Given the description of an element on the screen output the (x, y) to click on. 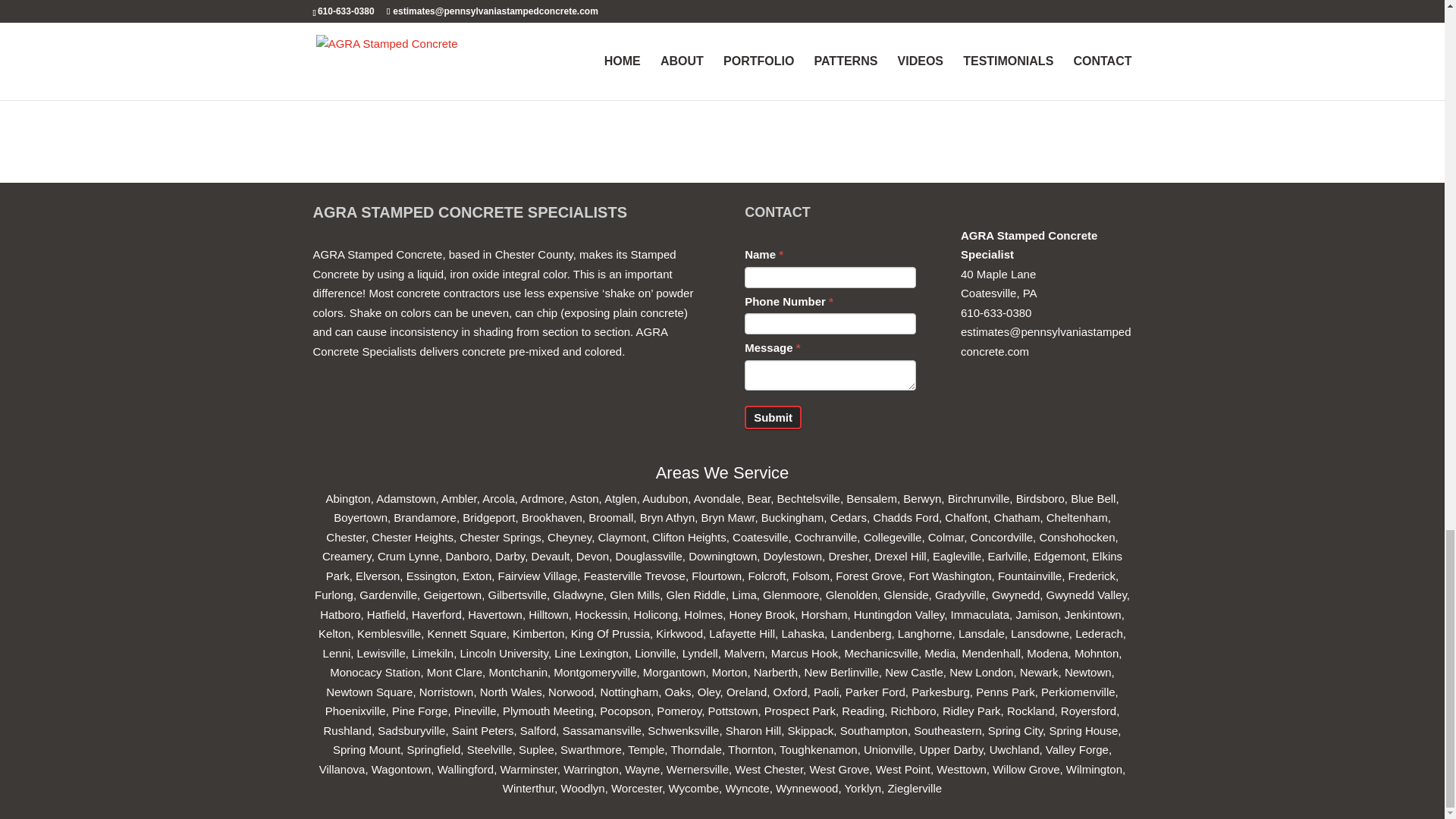
Submit (773, 417)
